Given the description of an element on the screen output the (x, y) to click on. 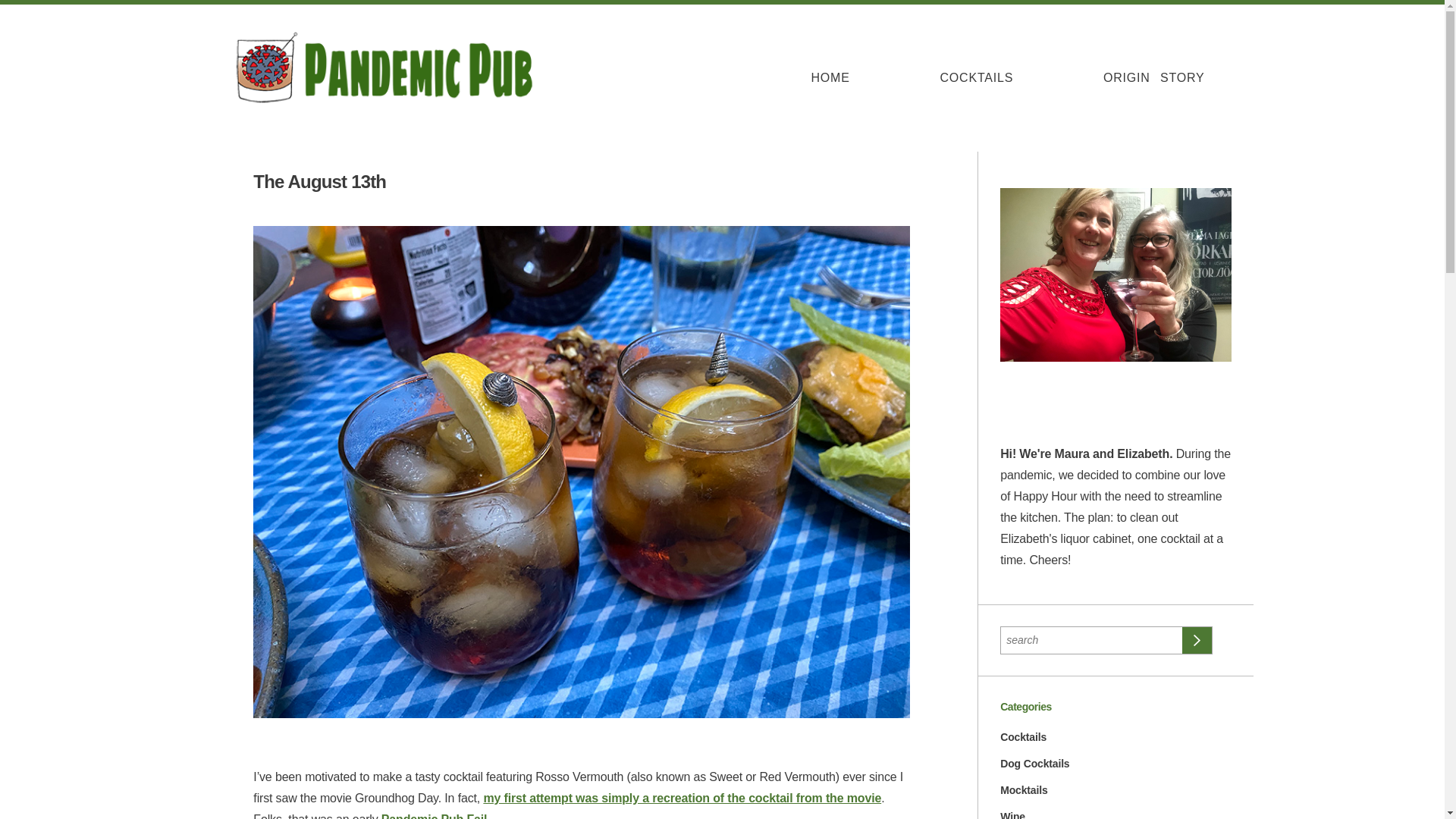
The August 13th (319, 181)
ORIGIN STORY (1152, 76)
Cocktails (1023, 736)
Mocktails (1023, 789)
COCKTAILS (977, 76)
HOME (830, 76)
Dog Cocktails (1034, 763)
Wine (1012, 814)
Pandemic Pub Fail (434, 816)
